Given the description of an element on the screen output the (x, y) to click on. 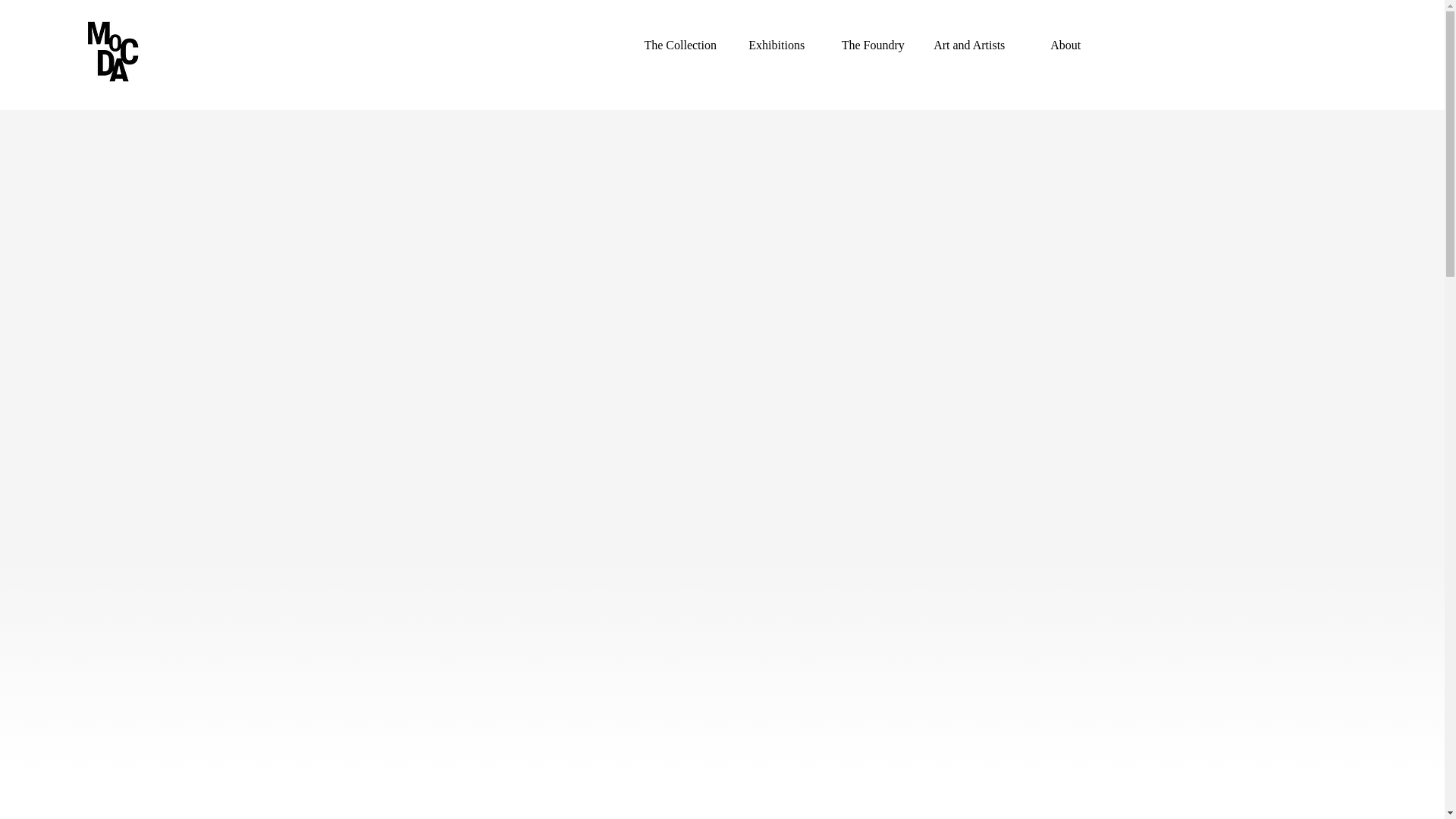
Art and Artists (969, 44)
About (1065, 44)
The Foundry (873, 44)
Exhibitions (777, 44)
The Collection (680, 44)
